Given the description of an element on the screen output the (x, y) to click on. 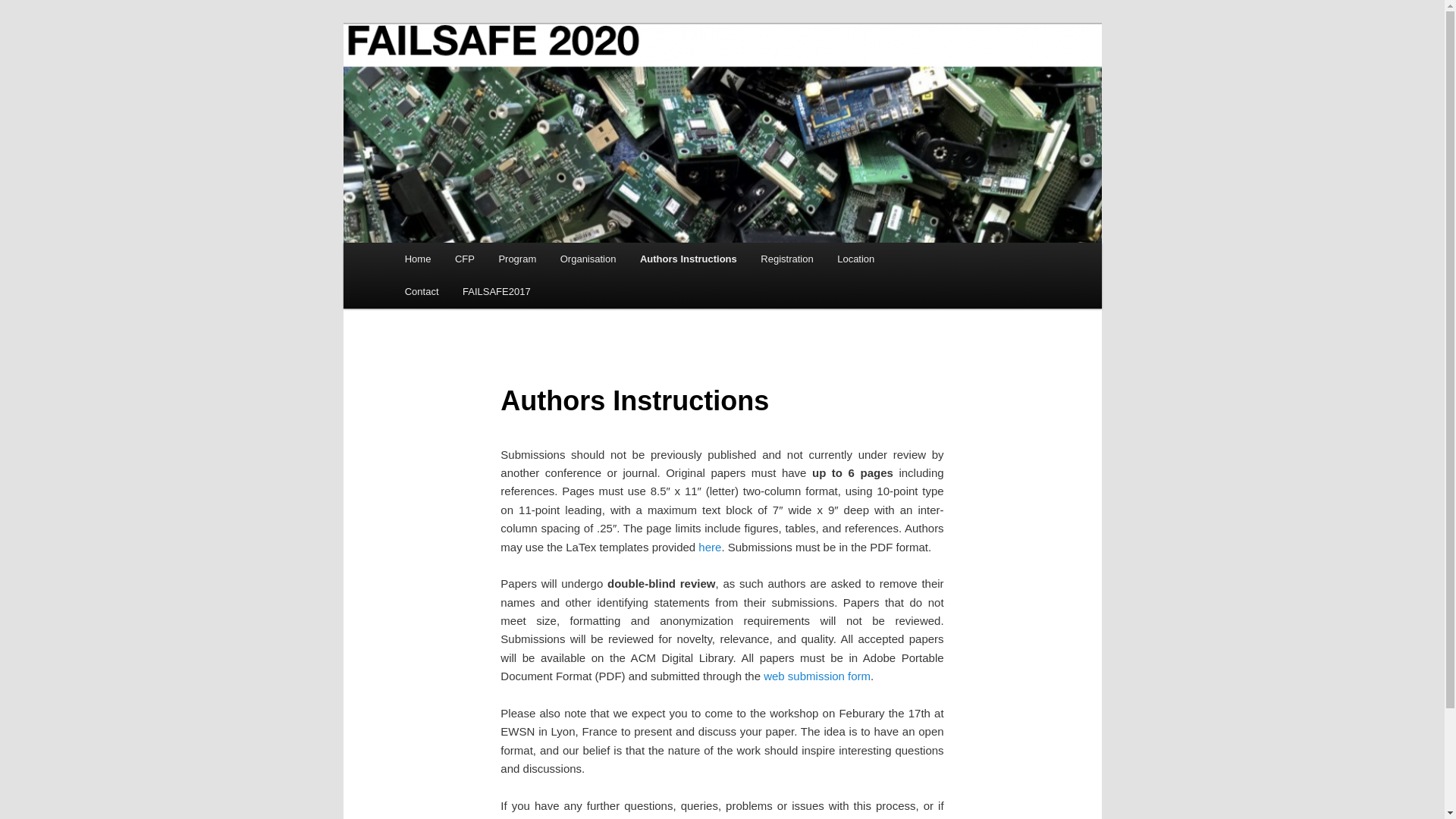
Organisation (587, 258)
Contact (421, 291)
FAILSAFE 2020 (483, 78)
Program (517, 258)
Location (855, 258)
Search (24, 8)
CFP (464, 258)
Registration (787, 258)
contact us (754, 818)
Home (417, 258)
here (709, 546)
Authors Instructions (687, 258)
web submission form (816, 675)
FAILSAFE2017 (495, 291)
